Given the description of an element on the screen output the (x, y) to click on. 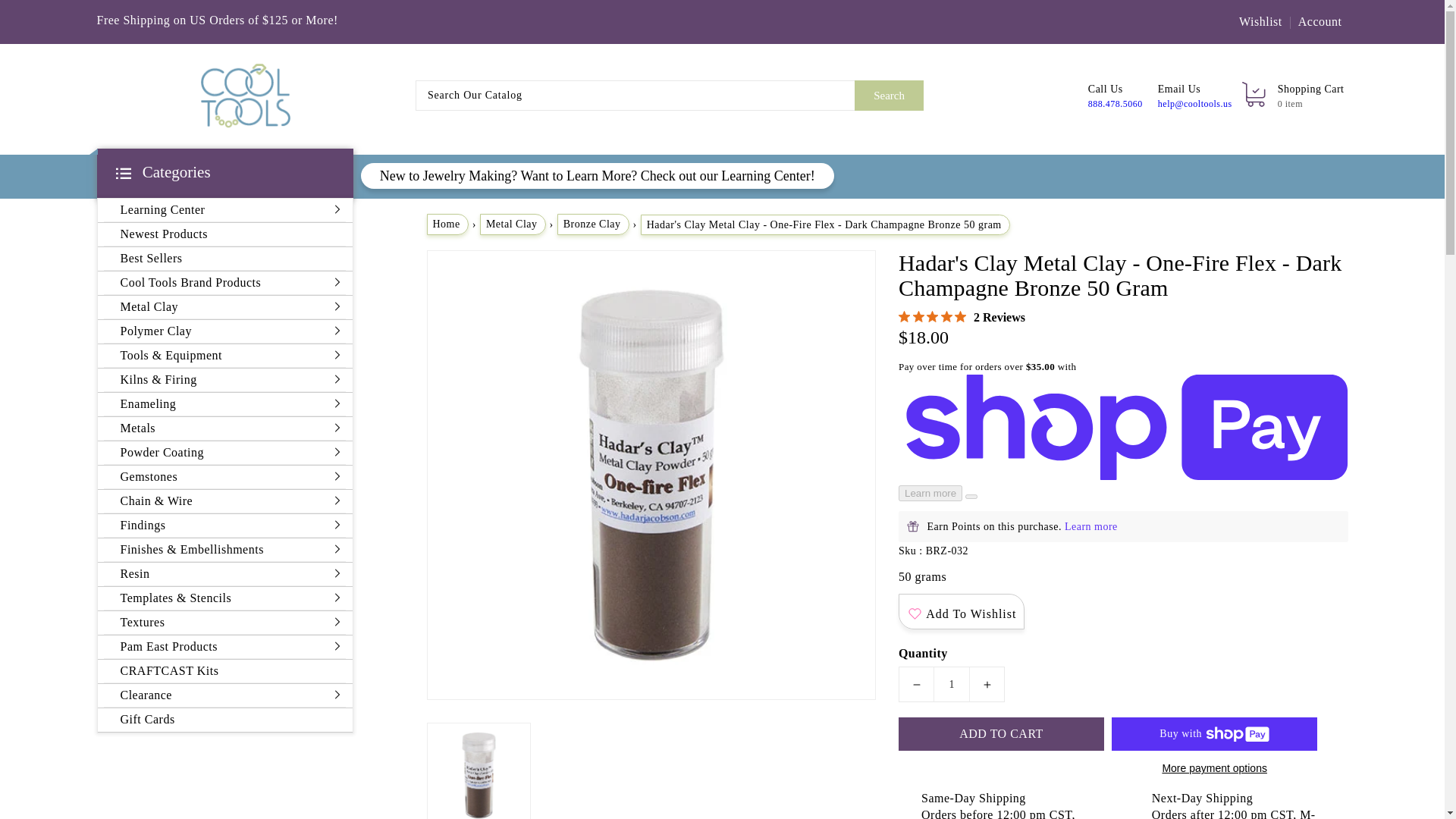
Best Sellers (224, 259)
SKIP TO CONTENT (14, 7)
Wishlist (1260, 21)
1 (951, 684)
Home (446, 224)
2 Reviews (961, 317)
Search (888, 95)
Newest Products (224, 234)
Account (1318, 21)
888.478.5060 (1114, 103)
Cool Tools Brand Products (220, 282)
Learning Center (220, 210)
